Given the description of an element on the screen output the (x, y) to click on. 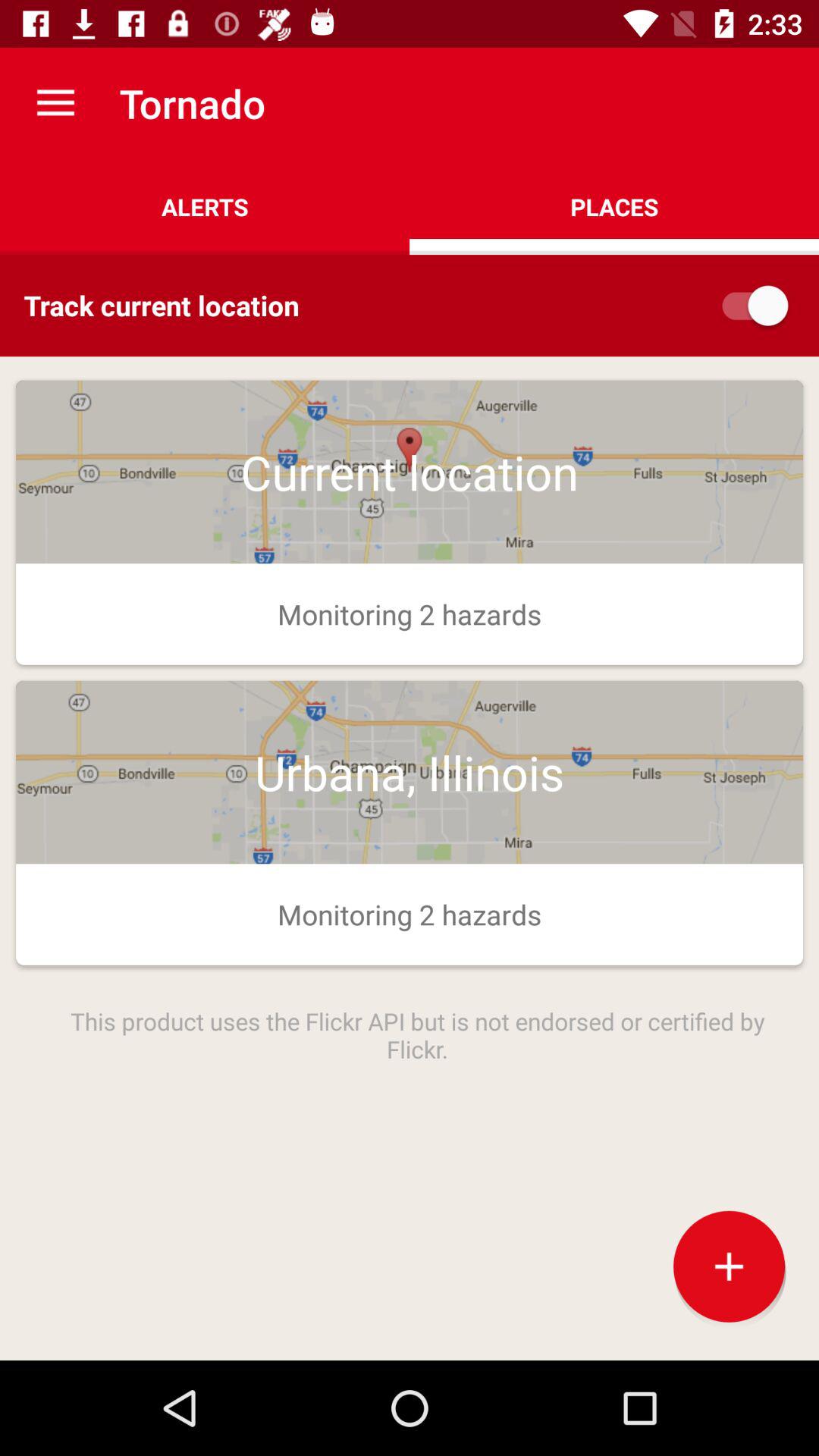
press the app to the left of places item (204, 206)
